Given the description of an element on the screen output the (x, y) to click on. 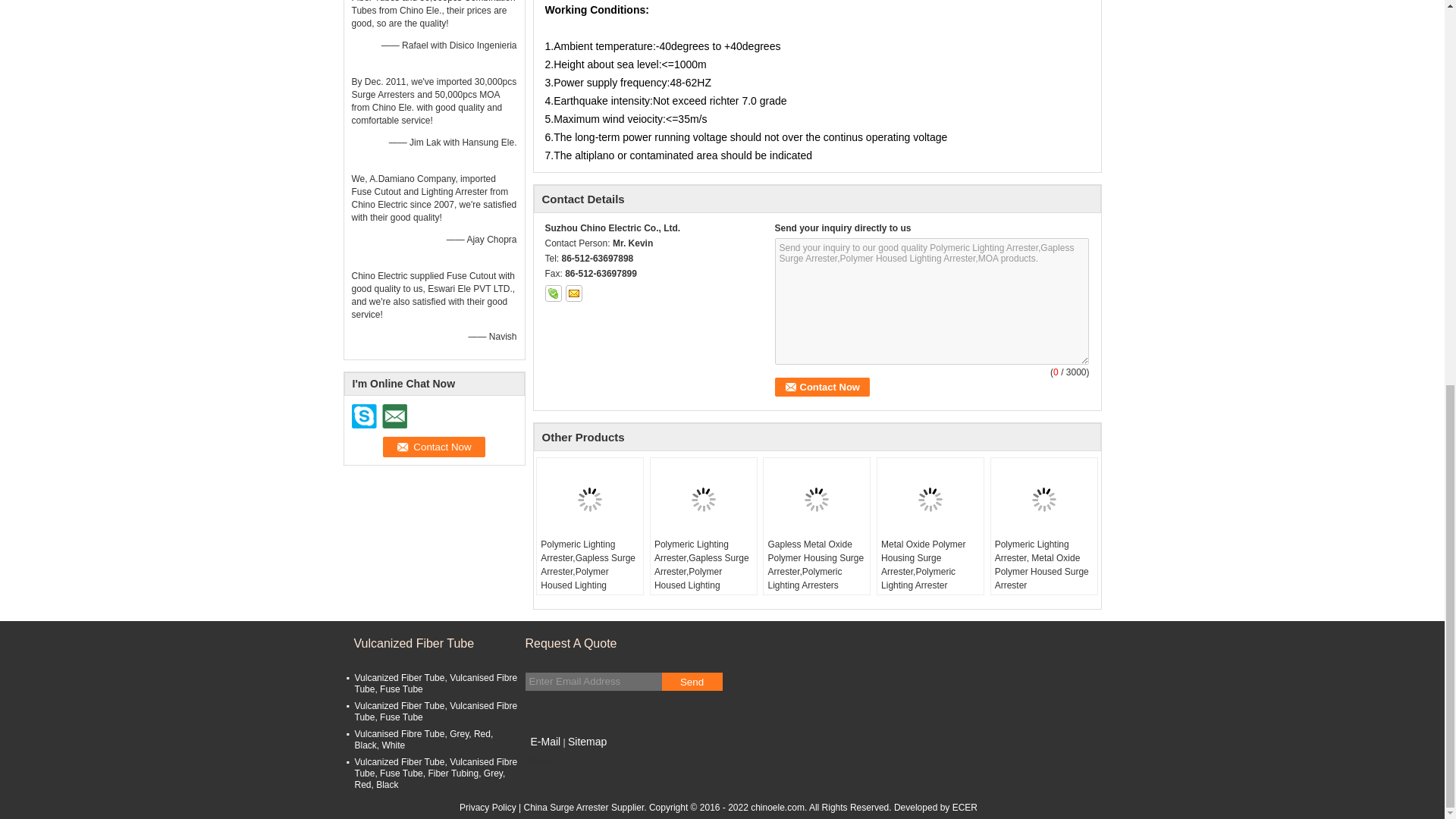
Contact Now (433, 446)
Contact Now (433, 446)
Contact Now (821, 386)
